Given the description of an element on the screen output the (x, y) to click on. 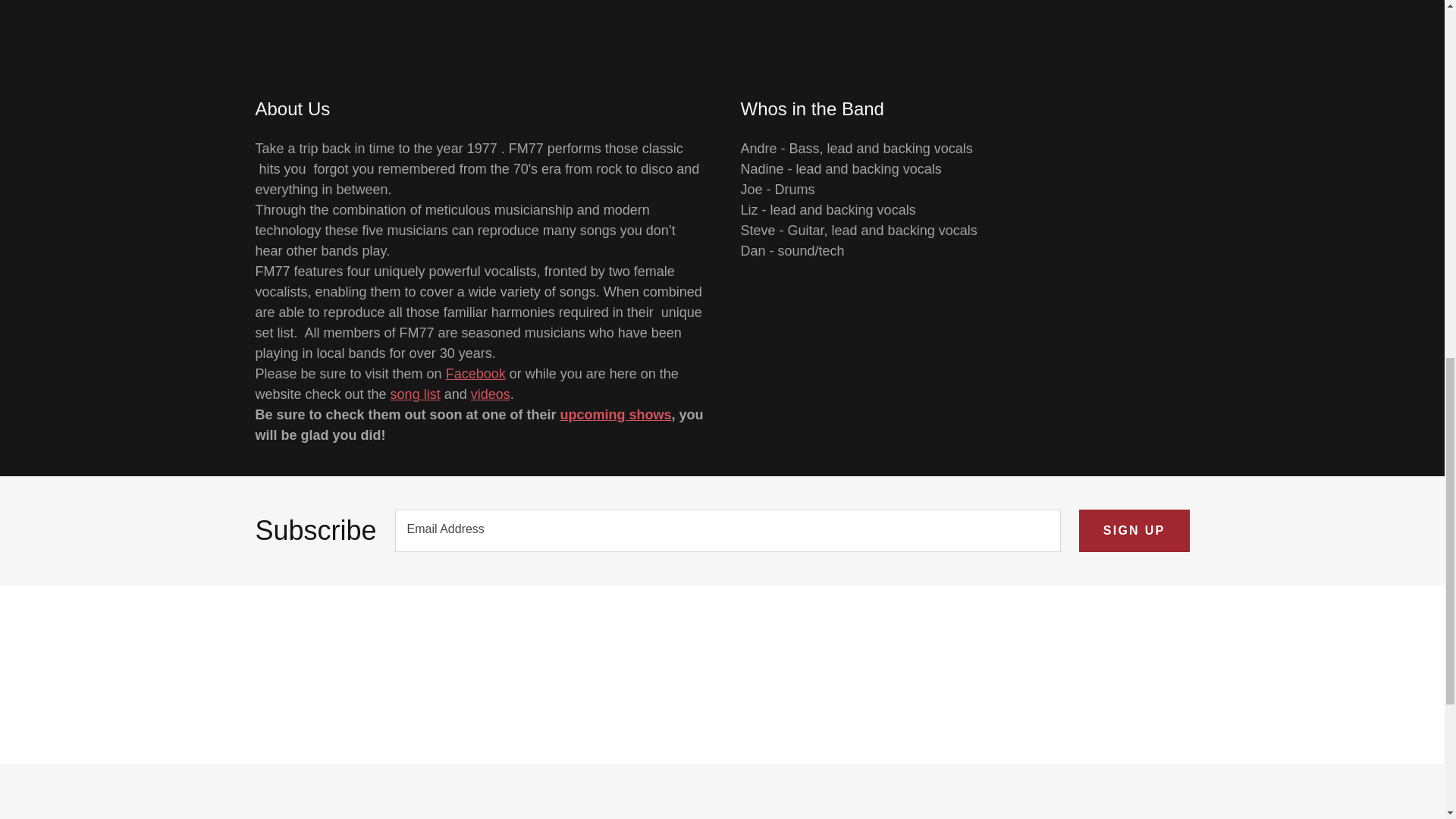
SIGN UP (1133, 530)
ACCEPT (1274, 324)
song list (415, 394)
Facebook (475, 373)
videos (490, 394)
upcoming shows (615, 414)
